Given the description of an element on the screen output the (x, y) to click on. 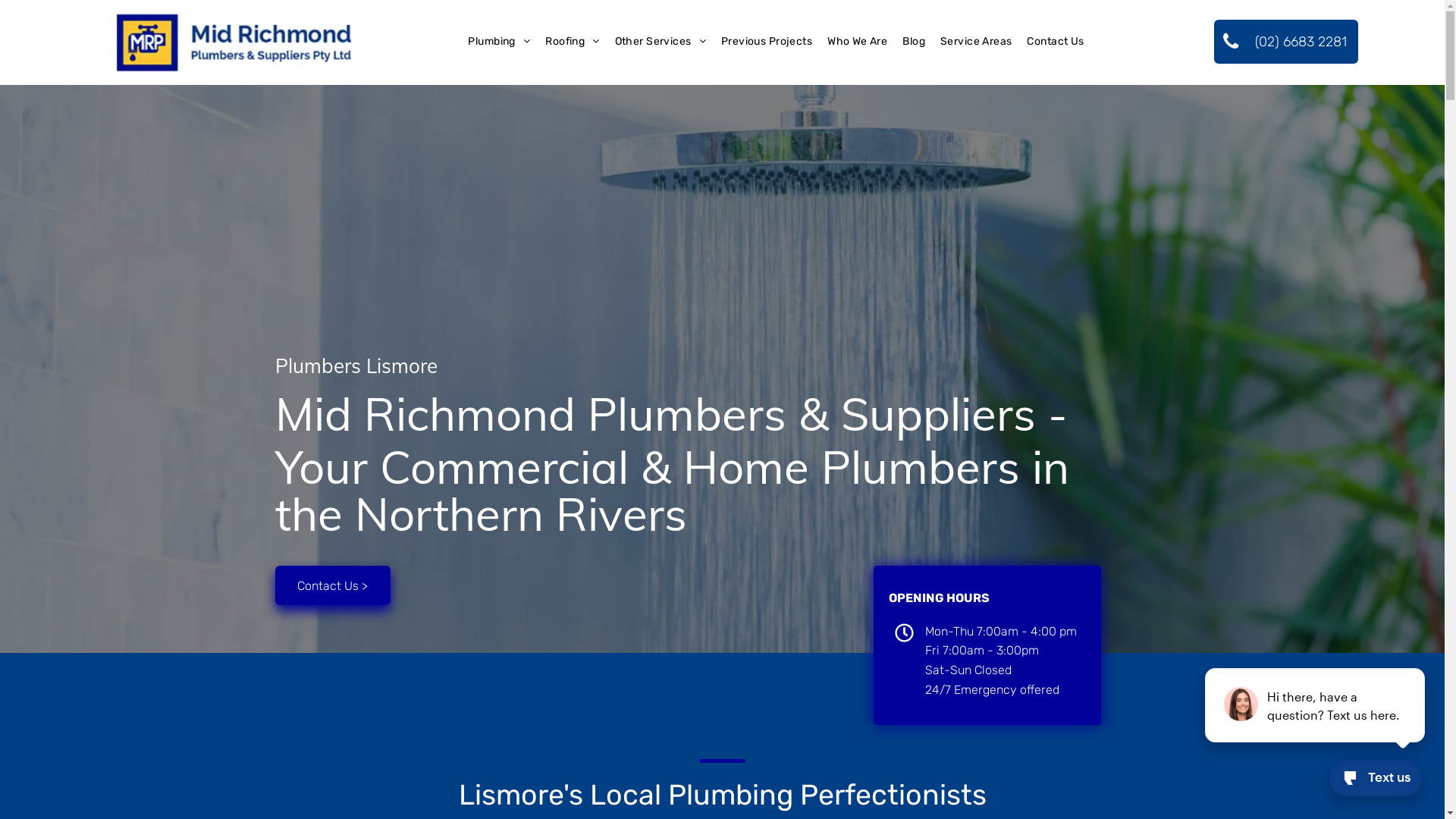
Blog Element type: text (913, 42)
Other Services Element type: text (660, 42)
Service Areas Element type: text (975, 42)
Plumbing Element type: text (498, 42)
Previous Projects Element type: text (766, 42)
podium webchat widget prompt Element type: hover (1315, 705)
Who We Are Element type: text (856, 42)
Contact Us > Element type: text (331, 585)
(02) 6683 2281 Element type: text (1286, 41)
Contact Us Element type: text (1055, 42)
Roofing Element type: text (571, 42)
